Given the description of an element on the screen output the (x, y) to click on. 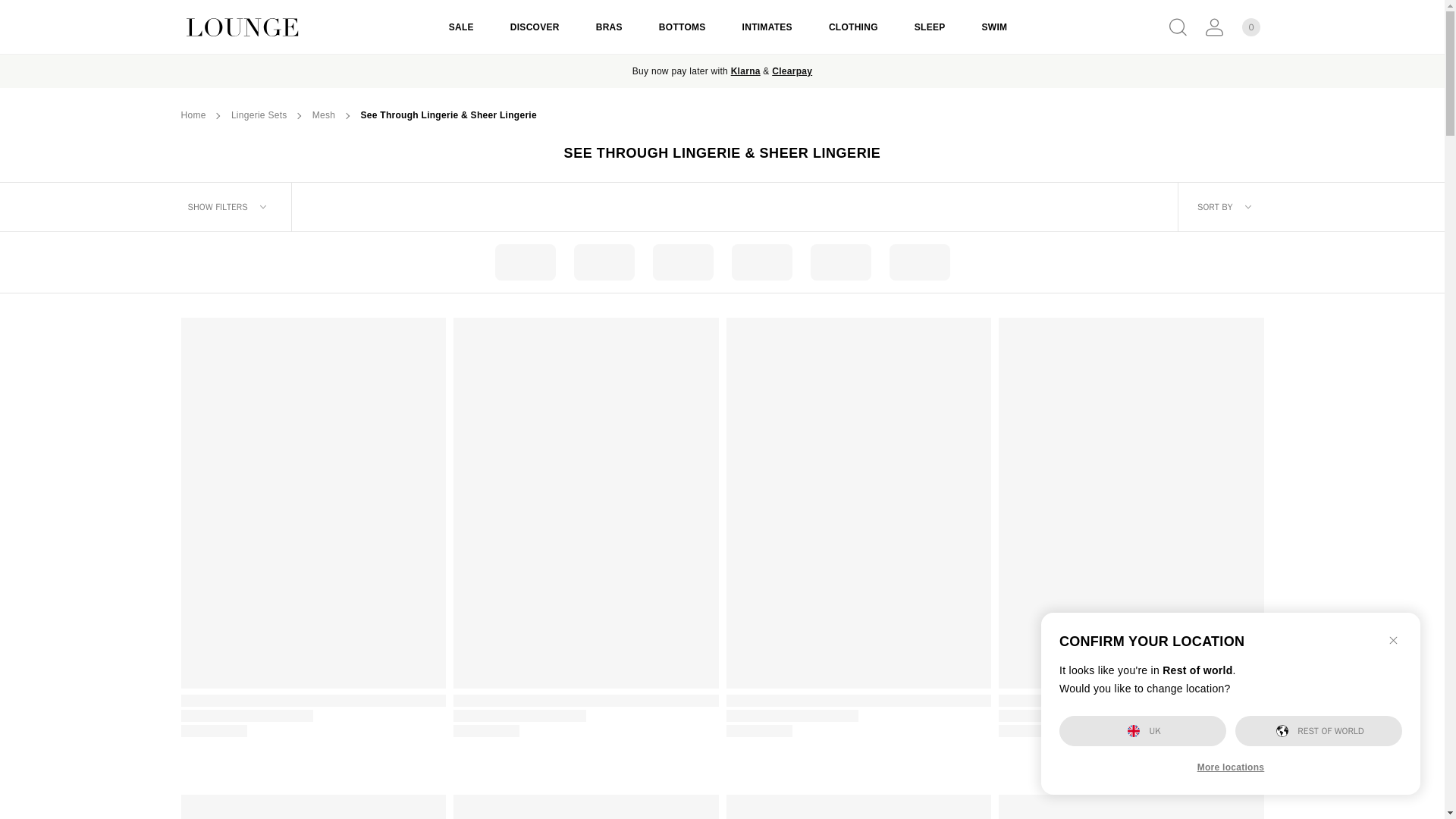
Campaigns (791, 71)
Lounge Underwear (294, 27)
DISCOVER (535, 27)
BRAS (609, 27)
Careers (745, 71)
SALE (461, 27)
BOTTOMS (681, 27)
